Given the description of an element on the screen output the (x, y) to click on. 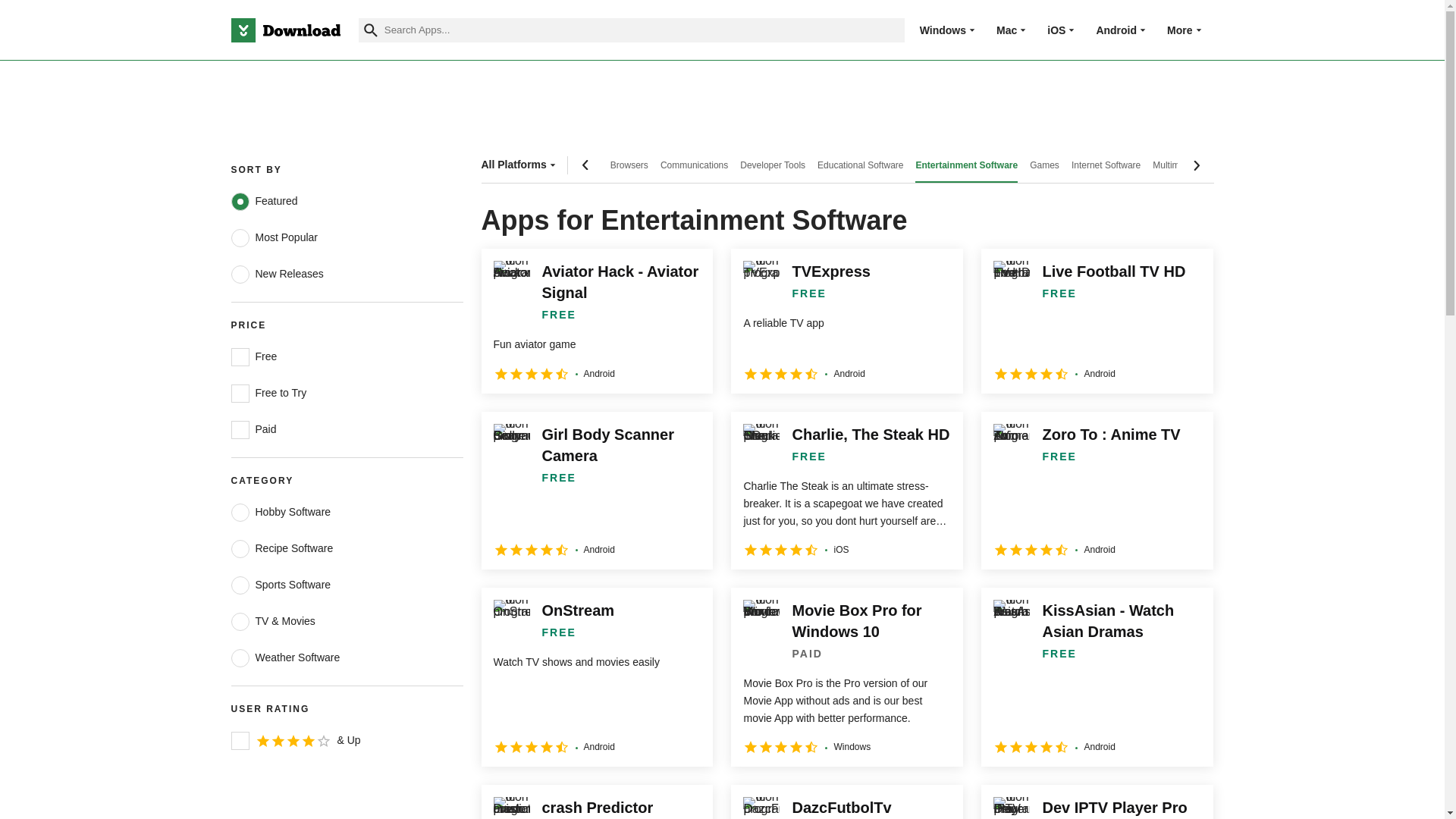
home-food-cooking (239, 548)
Zoro To : Anime TV (1096, 490)
Windows (943, 29)
freeToTry (239, 393)
entertainment-tv-movies (239, 621)
Live Football TV HD (1096, 320)
free (239, 357)
OnStream (596, 677)
Charlie, The Steak HD (846, 490)
mostPopular (239, 238)
